Given the description of an element on the screen output the (x, y) to click on. 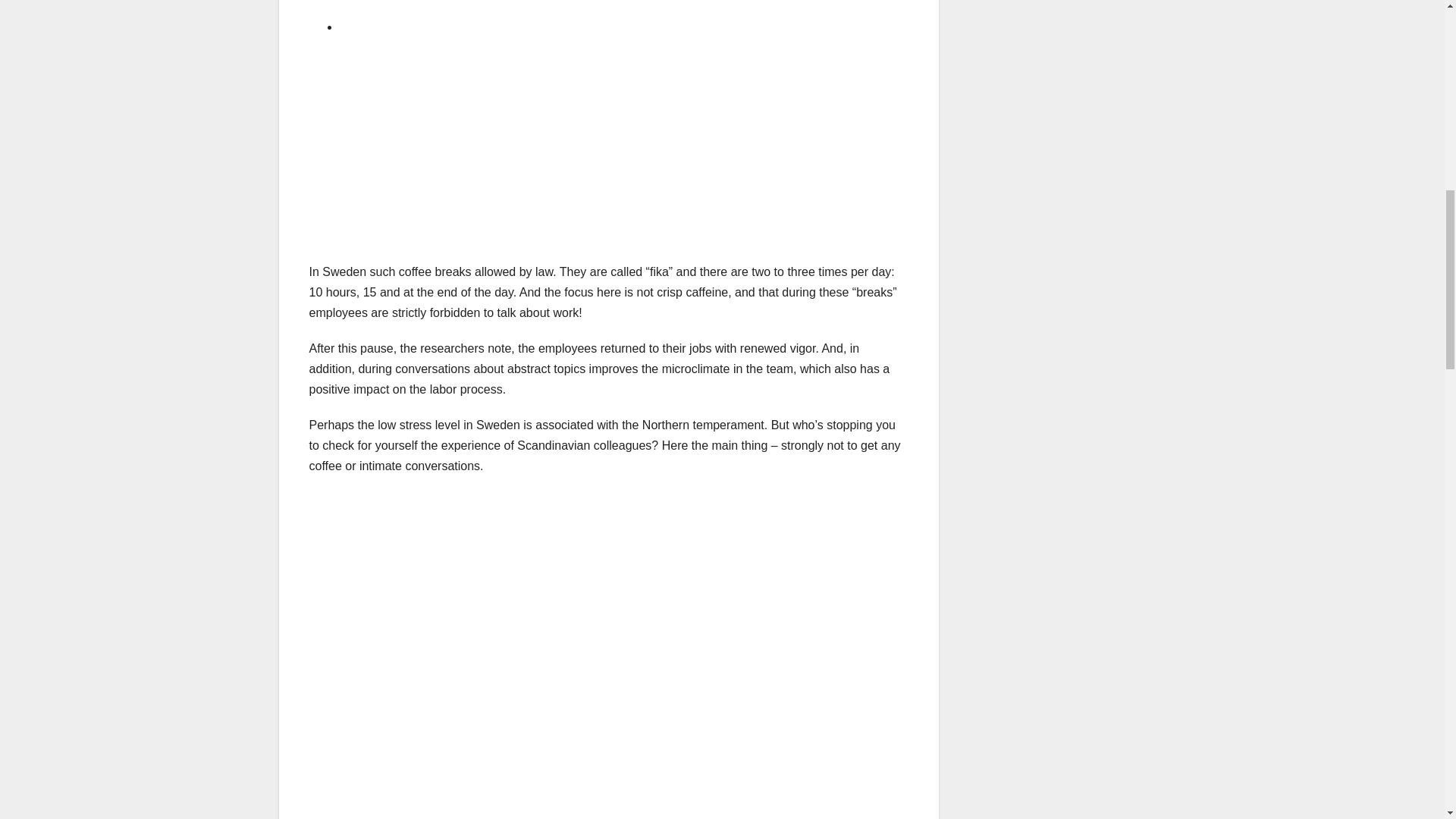
Advertisement (608, 781)
Advertisement (608, 617)
Advertisement (608, 155)
